Given the description of an element on the screen output the (x, y) to click on. 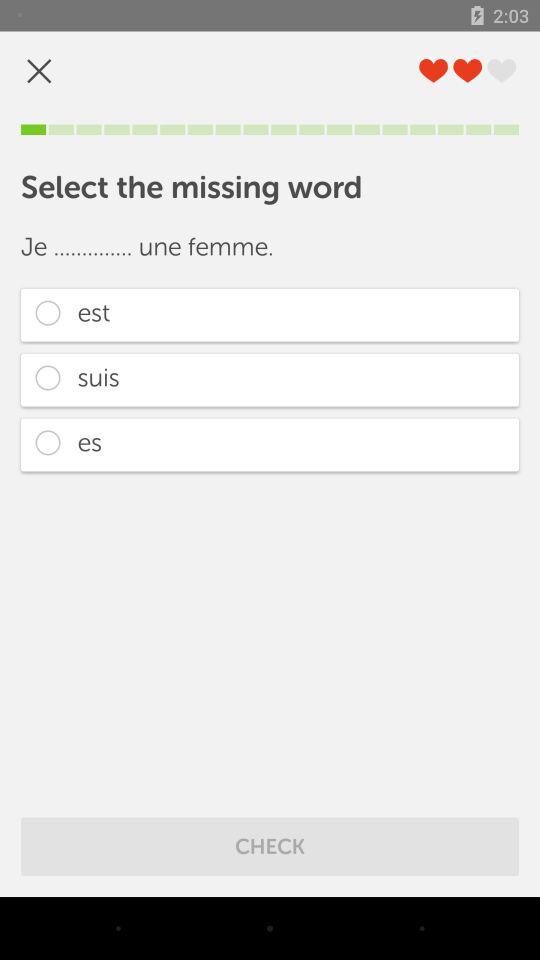
closes window (39, 70)
